Given the description of an element on the screen output the (x, y) to click on. 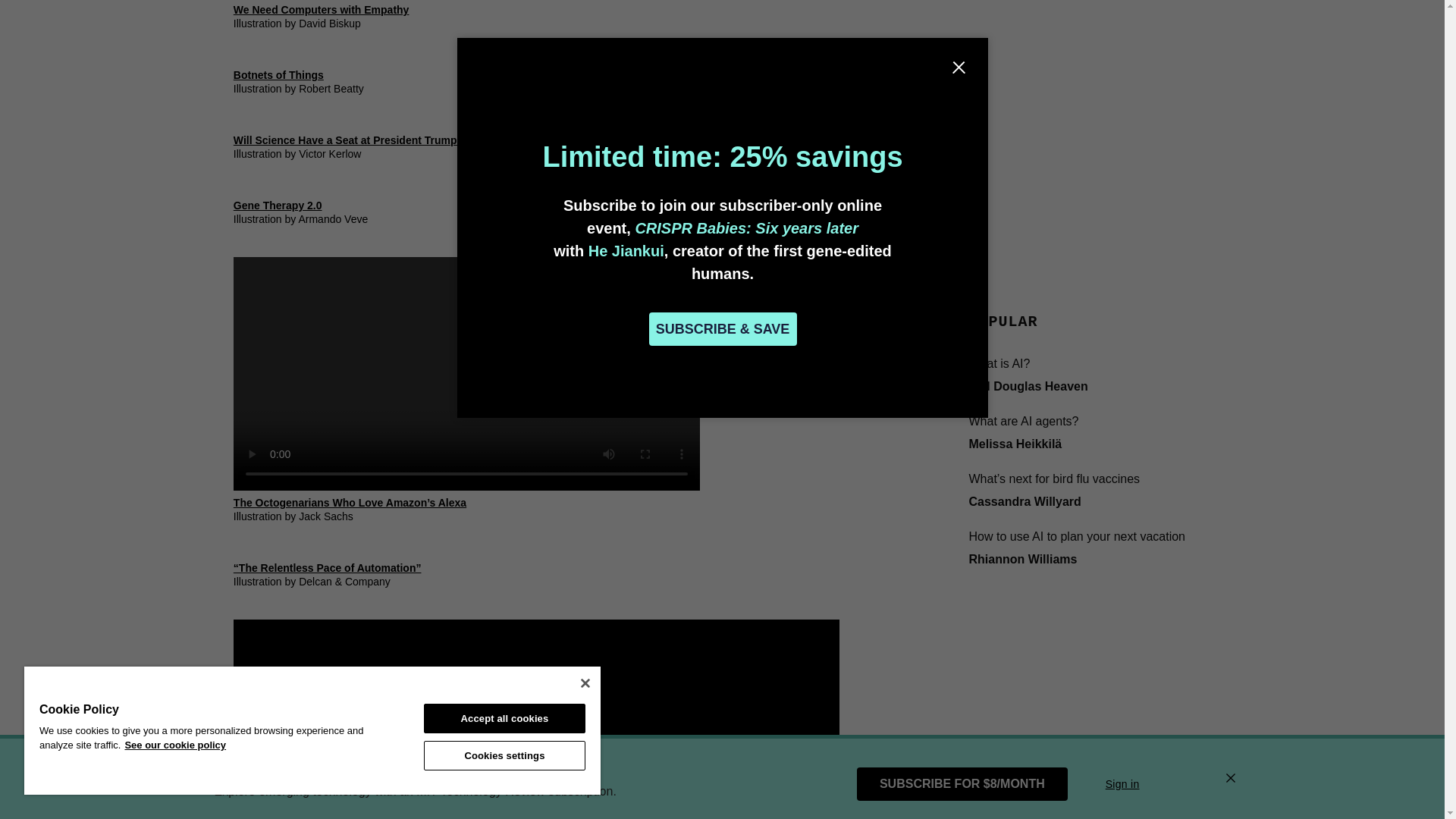
3rd party ad content (1081, 27)
